Given the description of an element on the screen output the (x, y) to click on. 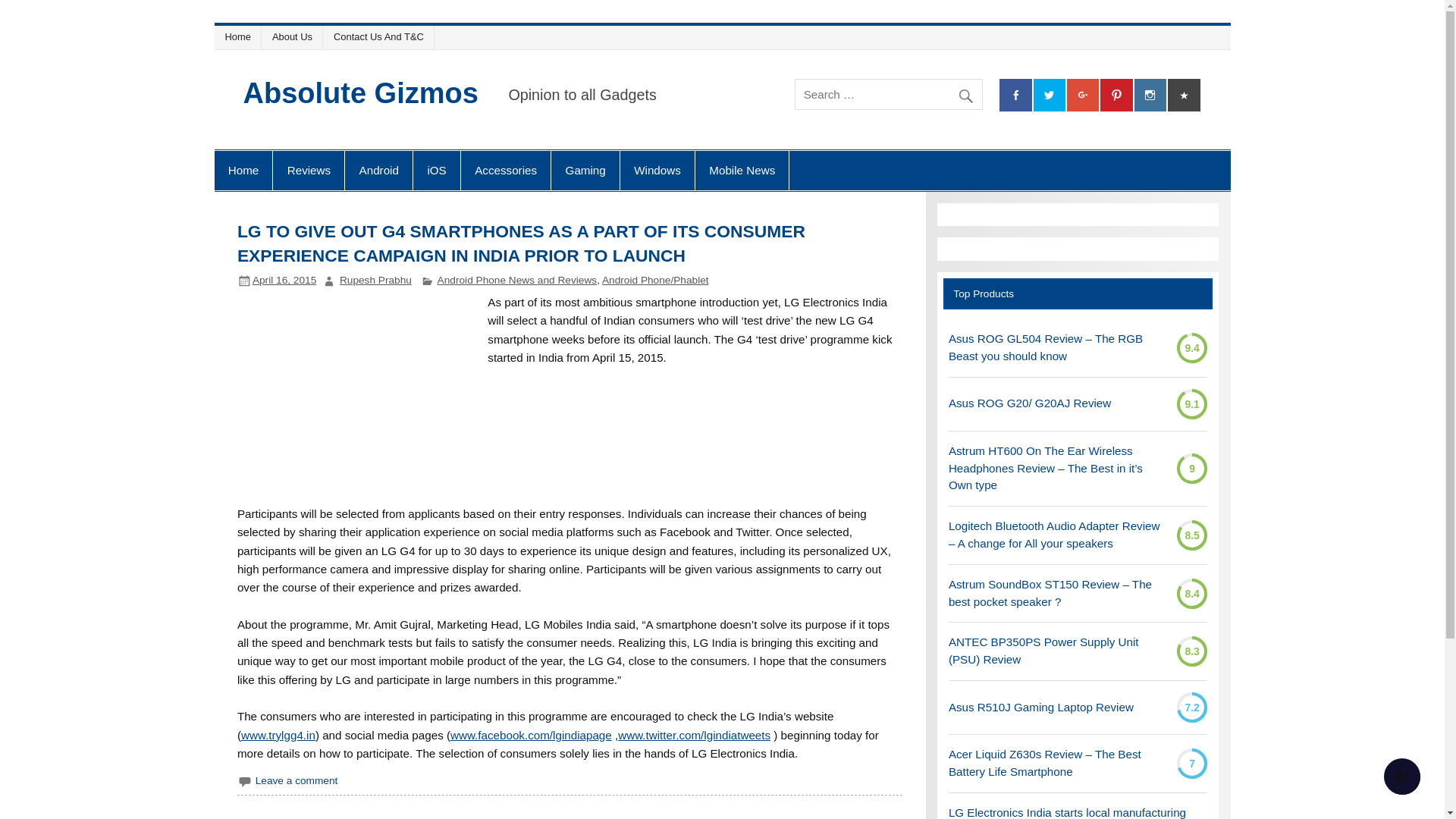
Accessories (505, 170)
Rupesh Prabhu (375, 279)
Mobile News (742, 170)
Astrum Soundbox ST150 (1057, 593)
Android (378, 170)
Home (239, 37)
Windows (657, 170)
Home (243, 170)
April 16, 2015 (283, 279)
iOS (436, 170)
